Given the description of an element on the screen output the (x, y) to click on. 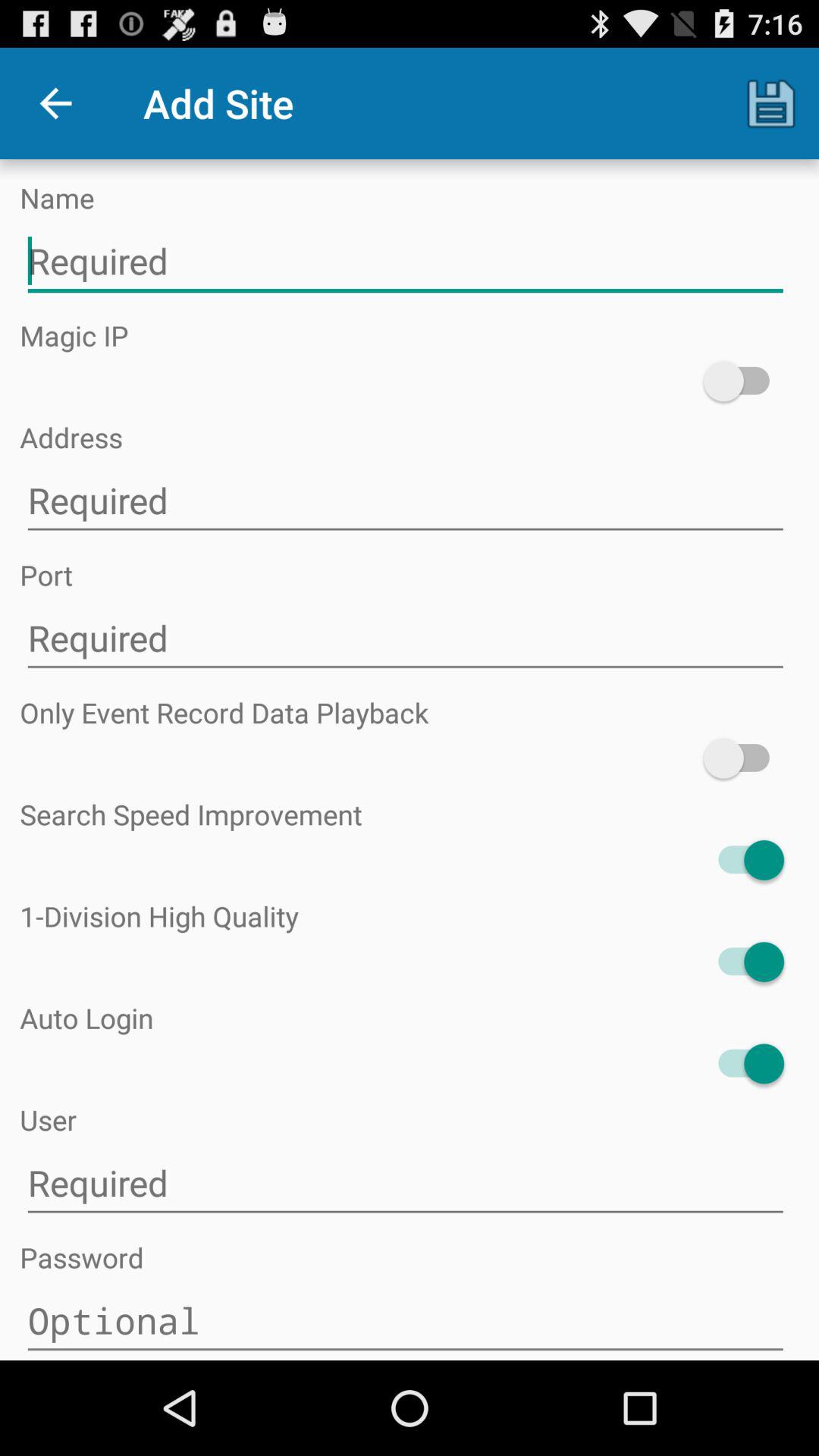
enter name (405, 261)
